Given the description of an element on the screen output the (x, y) to click on. 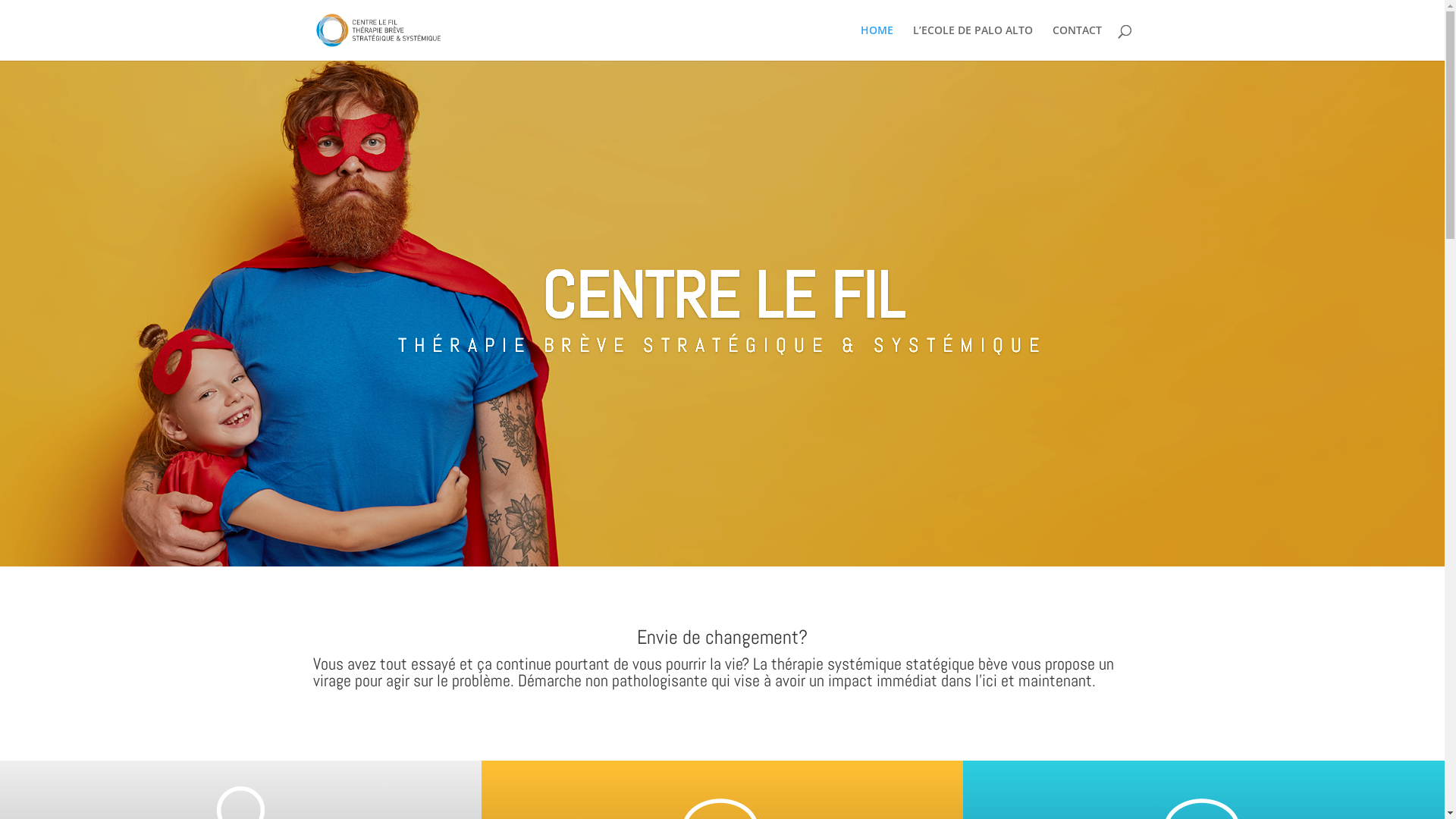
CONTACT Element type: text (1076, 42)
CENTRE LE FIL Element type: text (722, 295)
HOME Element type: text (875, 42)
